Given the description of an element on the screen output the (x, y) to click on. 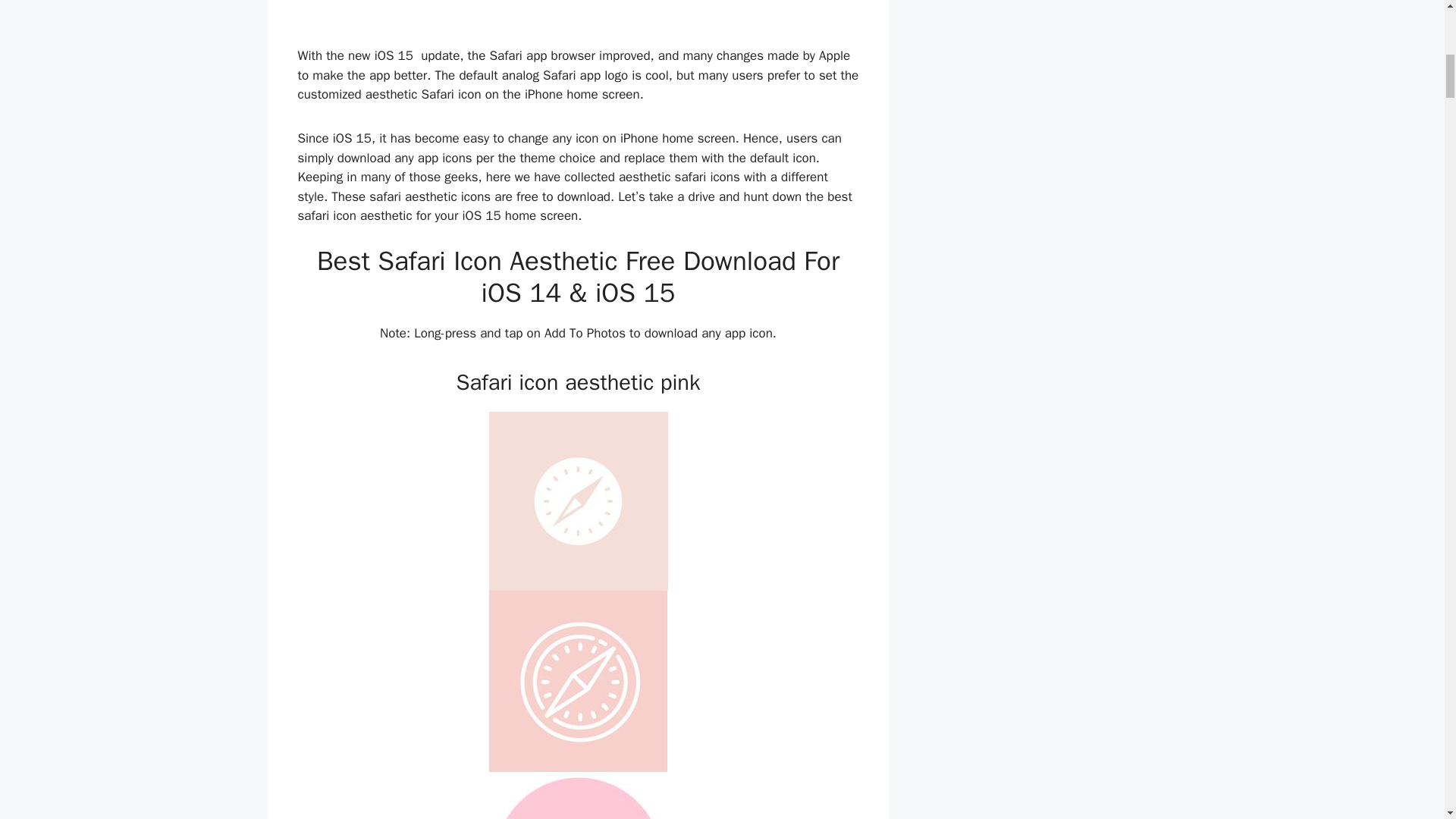
Advertisement (578, 19)
